Given the description of an element on the screen output the (x, y) to click on. 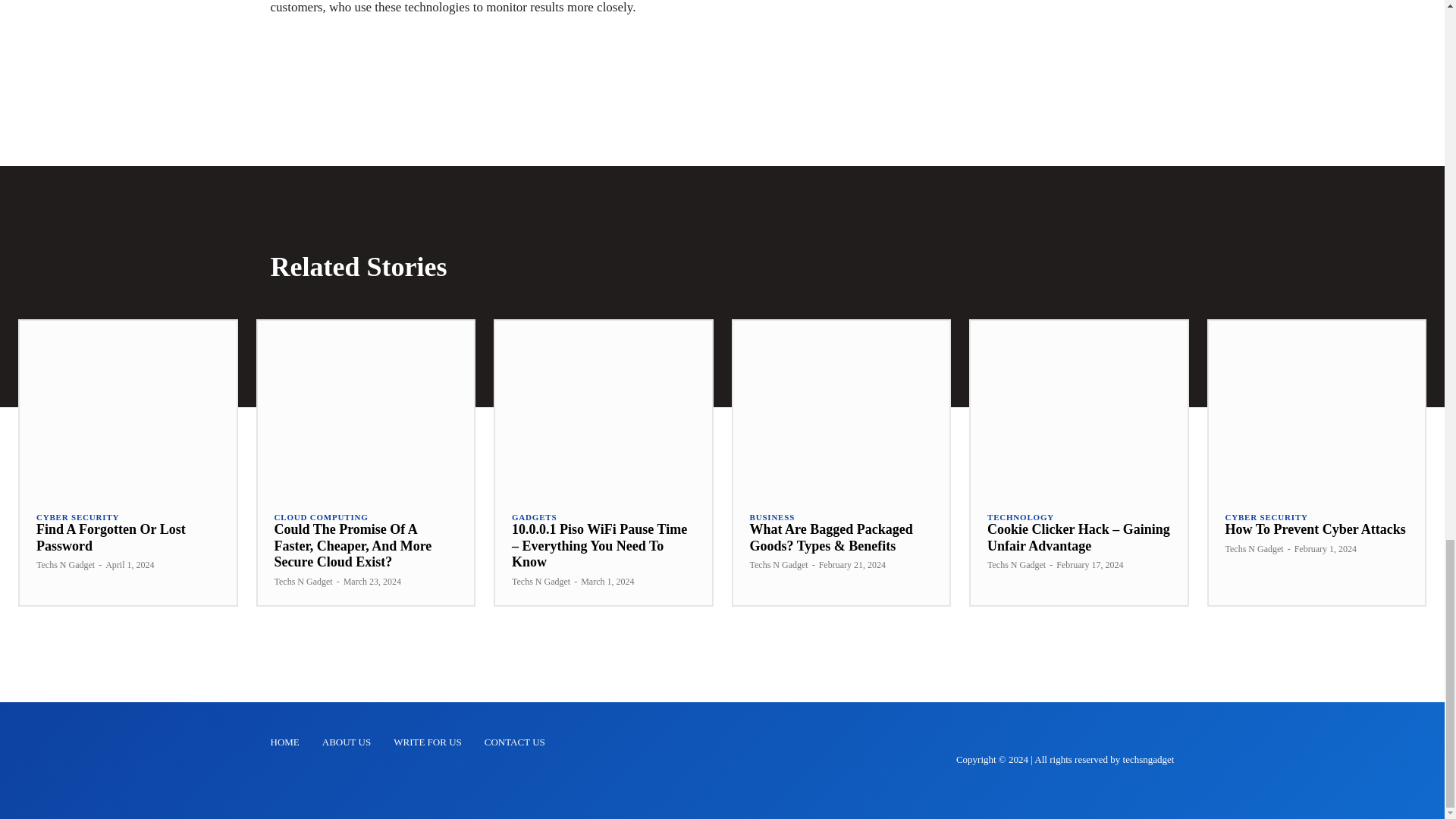
Find A Forgotten Or Lost Password (127, 407)
Find A Forgotten Or Lost Password (111, 537)
